Given the description of an element on the screen output the (x, y) to click on. 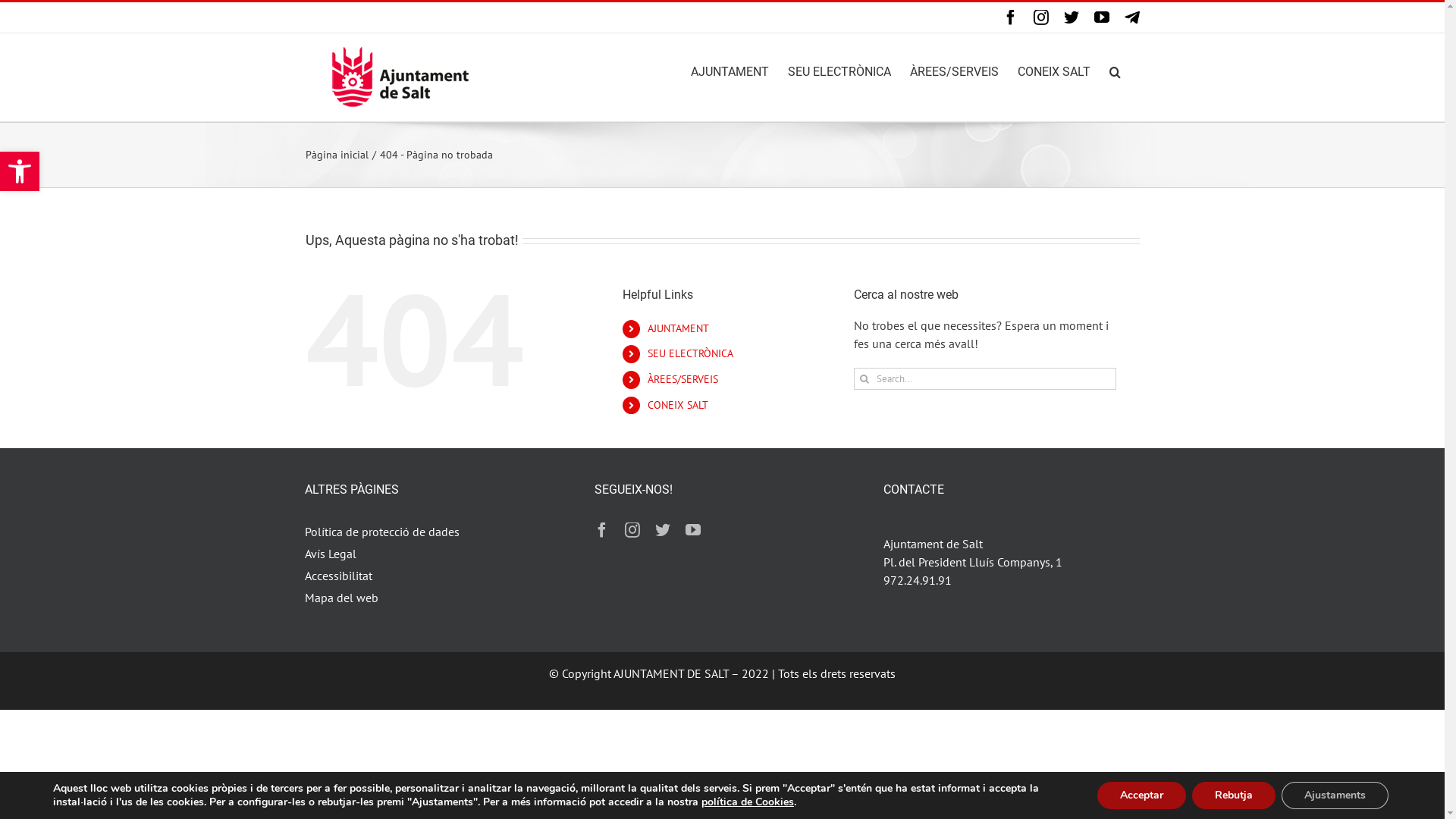
Ajustaments Element type: text (1334, 795)
YouTube Element type: text (1100, 17)
Canal Telegram Element type: text (1131, 17)
Accessibilitat Element type: text (432, 575)
Rebutja Element type: text (1233, 795)
Cerca Element type: hover (1114, 70)
Twitter Element type: text (1070, 17)
Facebook Element type: text (1009, 17)
AJUNTAMENT Element type: text (729, 70)
Instagram Element type: text (1040, 17)
Mapa del web Element type: text (432, 597)
Acceptar Element type: text (1141, 795)
AJUNTAMENT Element type: text (678, 328)
CONEIX SALT Element type: text (677, 404)
CONEIX SALT Element type: text (1053, 70)
